Given the description of an element on the screen output the (x, y) to click on. 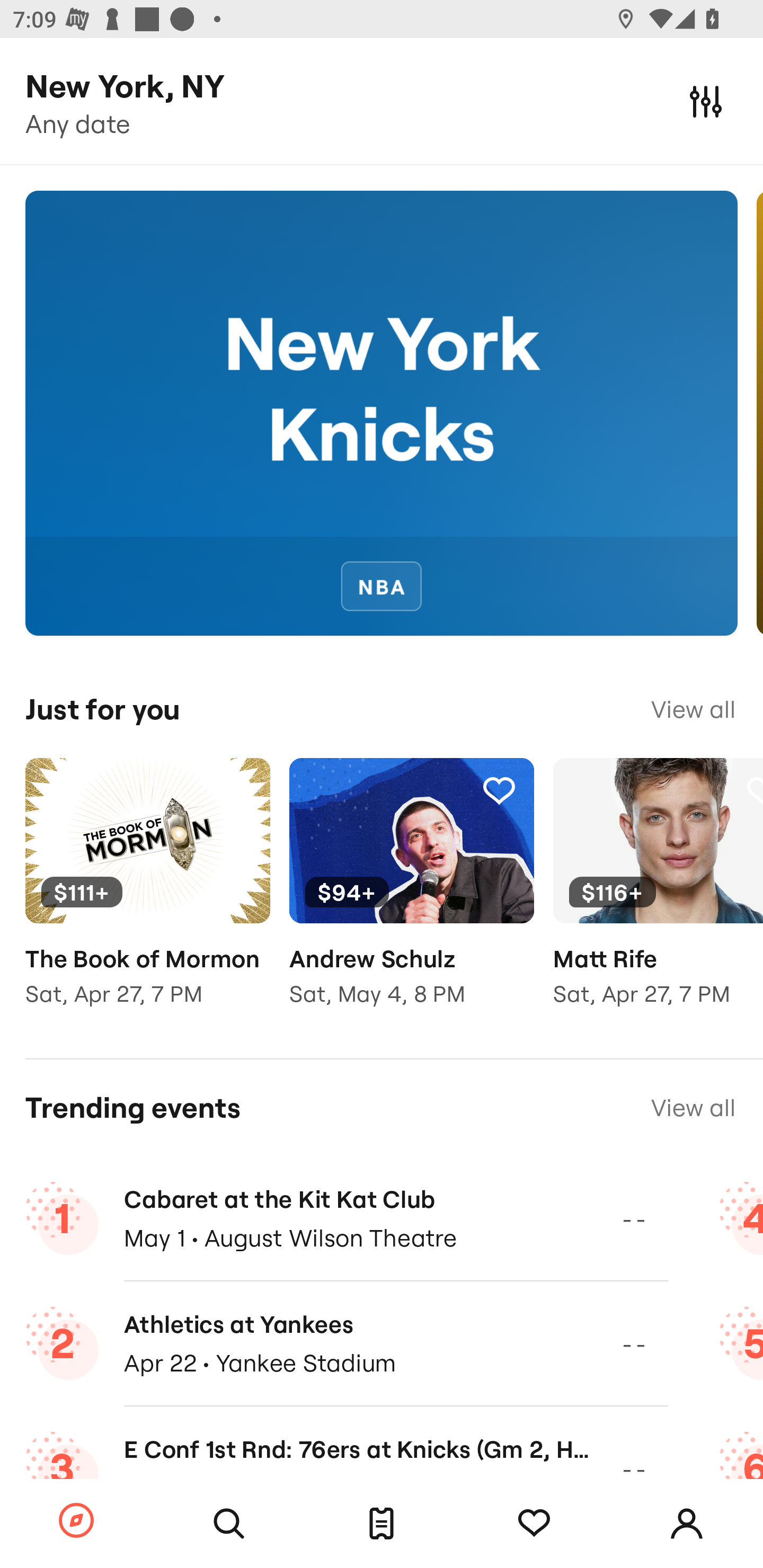
Filters (705, 100)
View all (693, 709)
Tracking $94+ Andrew Schulz Sat, May 4, 8 PM (411, 895)
Tracking $116+ Matt Rife Sat, Apr 27, 7 PM (658, 895)
Tracking (234, 790)
Tracking (498, 790)
View all (693, 1108)
Browse (76, 1521)
Search (228, 1523)
Tickets (381, 1523)
Tracking (533, 1523)
Account (686, 1523)
